Given the description of an element on the screen output the (x, y) to click on. 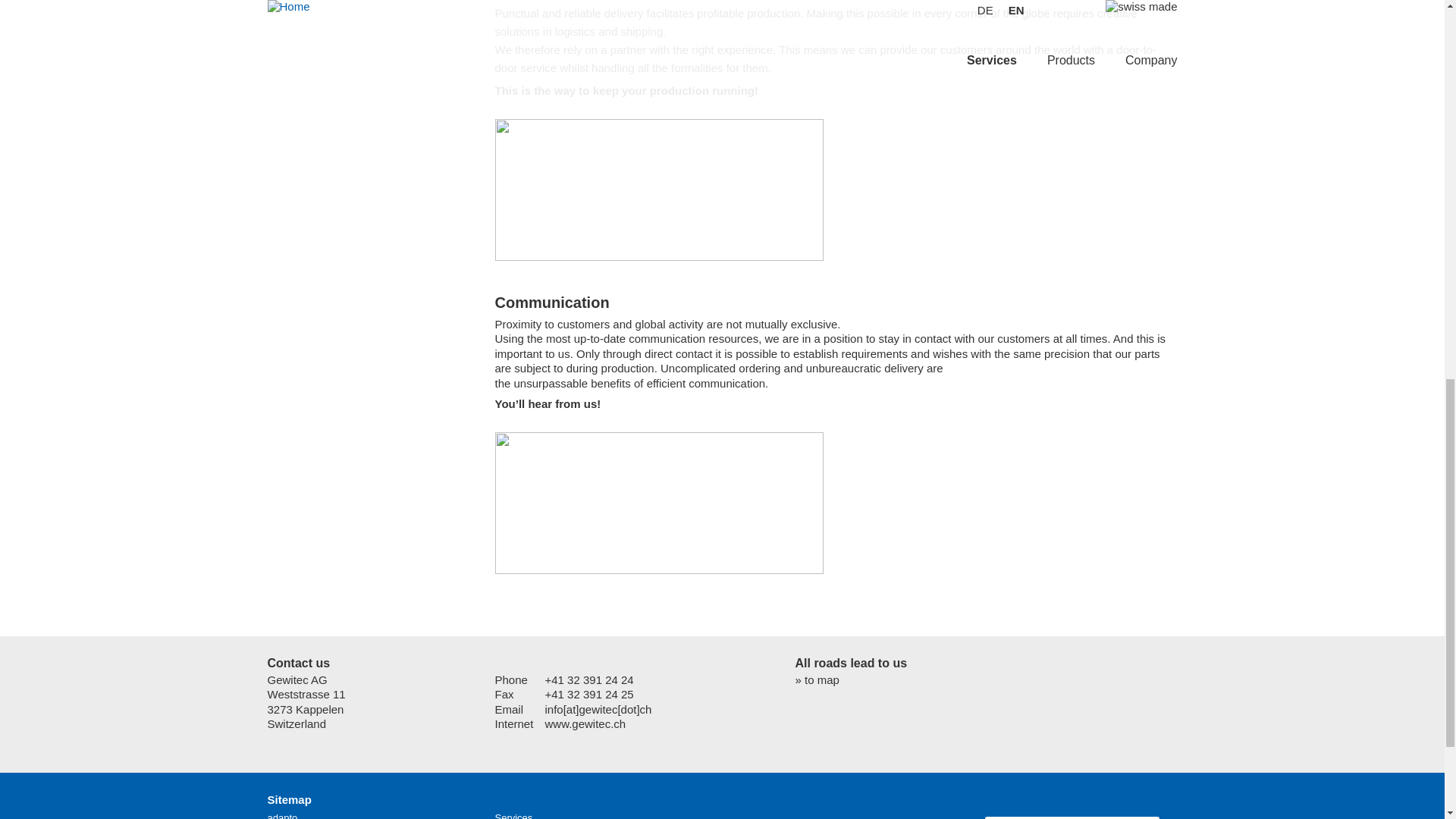
Suchen (1052, 817)
adapto (281, 815)
Services (513, 815)
www.gewitec.ch (585, 723)
